Given the description of an element on the screen output the (x, y) to click on. 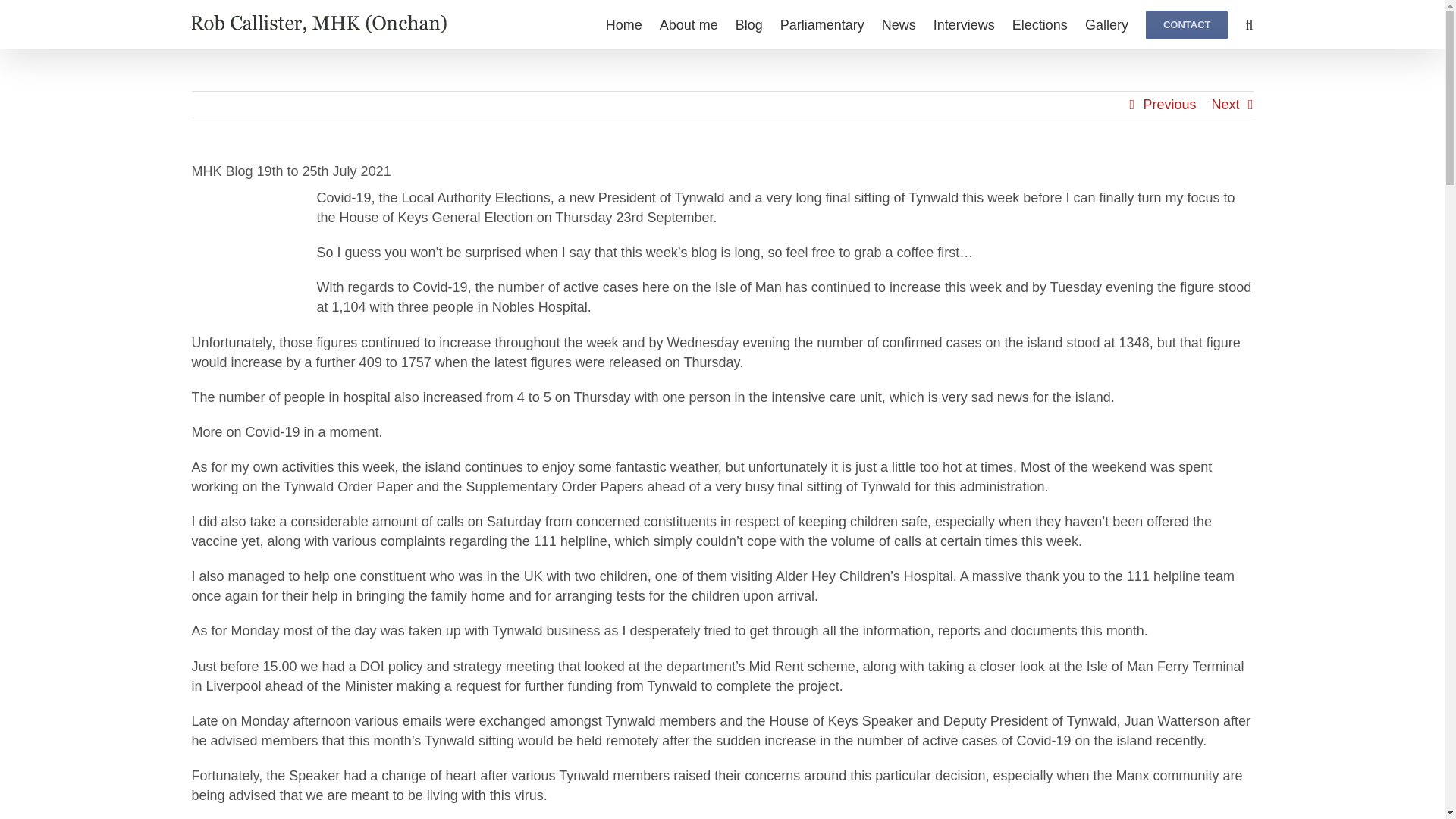
Elections (1039, 24)
Parliamentary (822, 24)
Previous (1168, 104)
CONTACT (1186, 24)
About me (688, 24)
Interviews (963, 24)
Next (1225, 104)
